Given the description of an element on the screen output the (x, y) to click on. 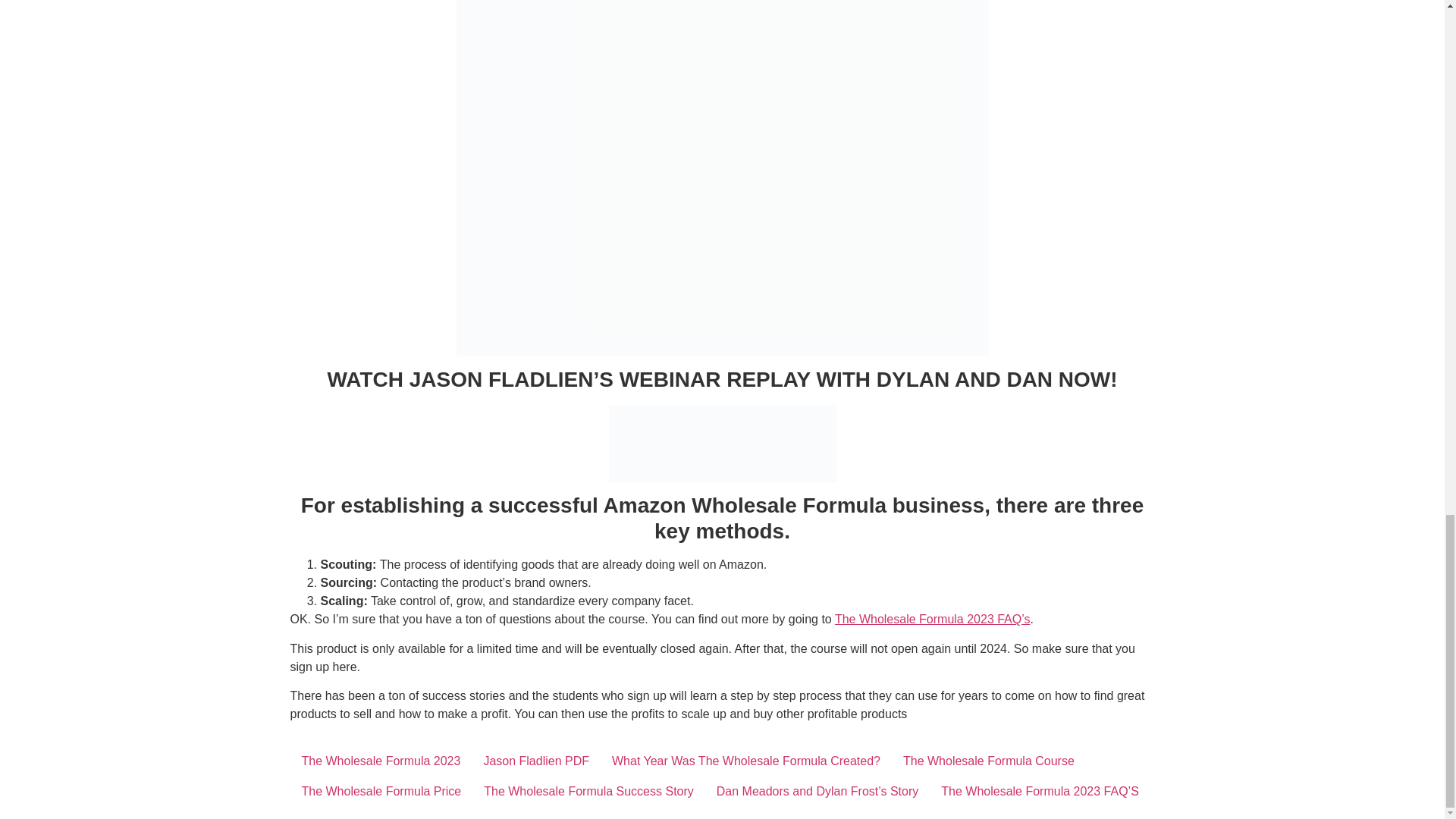
The Wholesale Formula Success Story (587, 791)
The Wholesale Formula Price (380, 791)
The Wholesale Formula Course (988, 761)
The Wholesale Formula 2023 (380, 761)
What Year Was The Wholesale Formula Created? (745, 761)
Jason Fladlien PDF (535, 761)
